Given the description of an element on the screen output the (x, y) to click on. 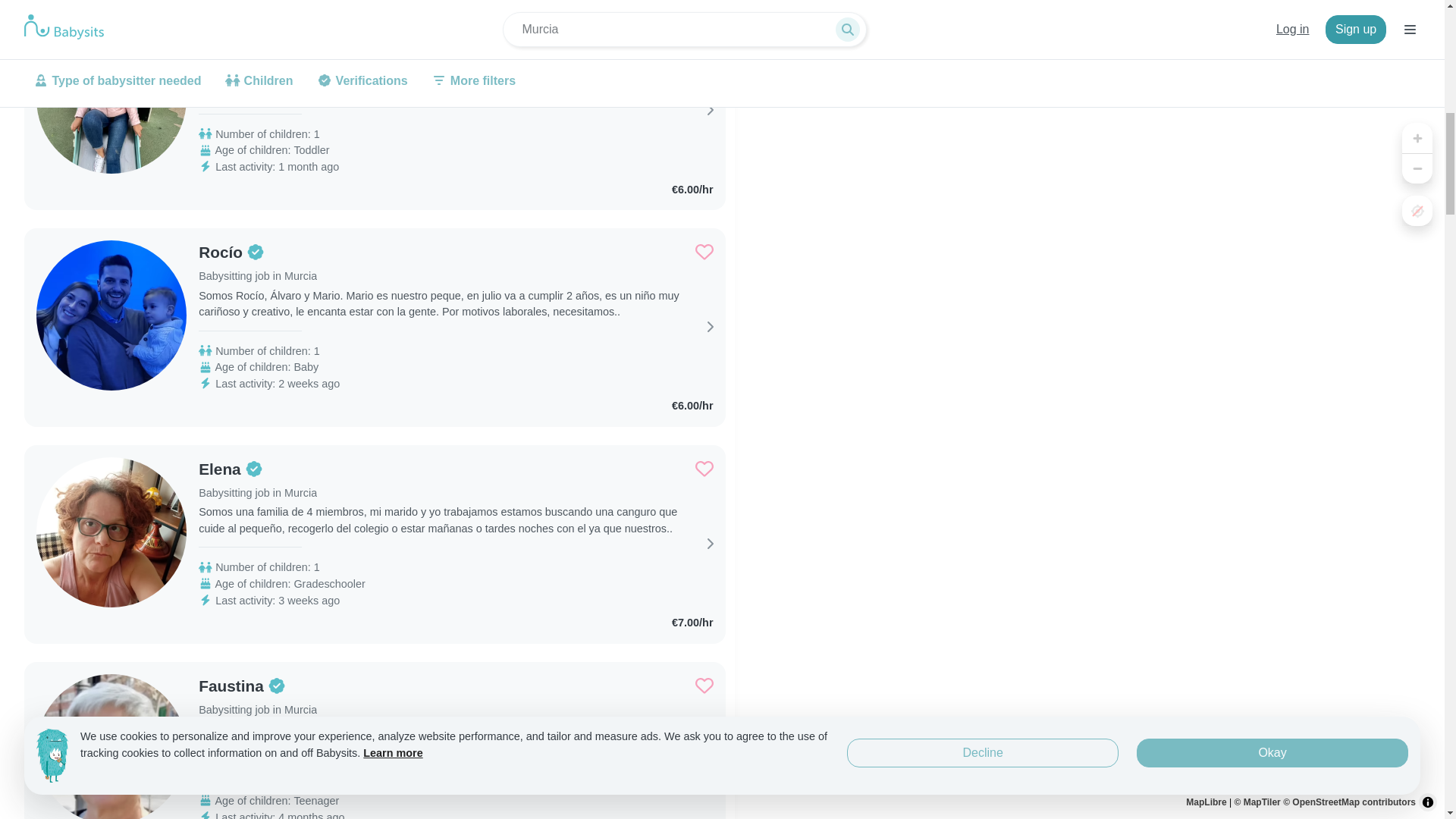
Profile parent Faustina - Murcia (257, 686)
Profile parent Elena - Murcia (257, 469)
Profile parent Ana Laura - Murcia (257, 35)
Babysitting job in Murcia (257, 59)
Ana Laura (257, 35)
